Given the description of an element on the screen output the (x, y) to click on. 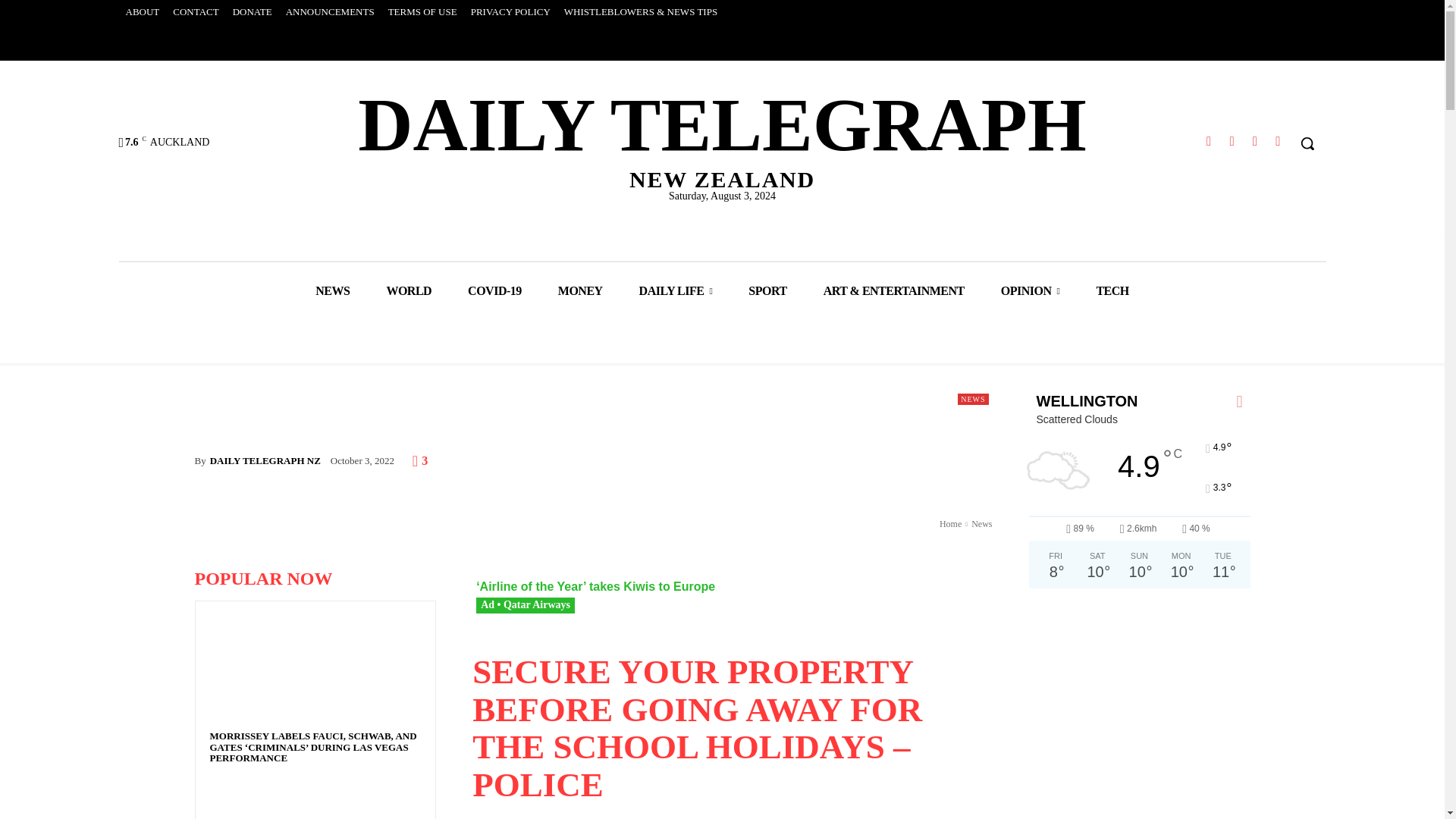
PRIVACY POLICY (510, 12)
Tiktok (721, 136)
WORLD (1254, 140)
TERMS OF USE (408, 291)
Twitter (422, 12)
DONATE (1231, 140)
CONTACT (252, 12)
ANNOUNCEMENTS (195, 12)
ABOUT (330, 12)
Telegram (141, 12)
COVID-19 (1208, 140)
Youtube (494, 291)
NEWS (1277, 140)
